Given the description of an element on the screen output the (x, y) to click on. 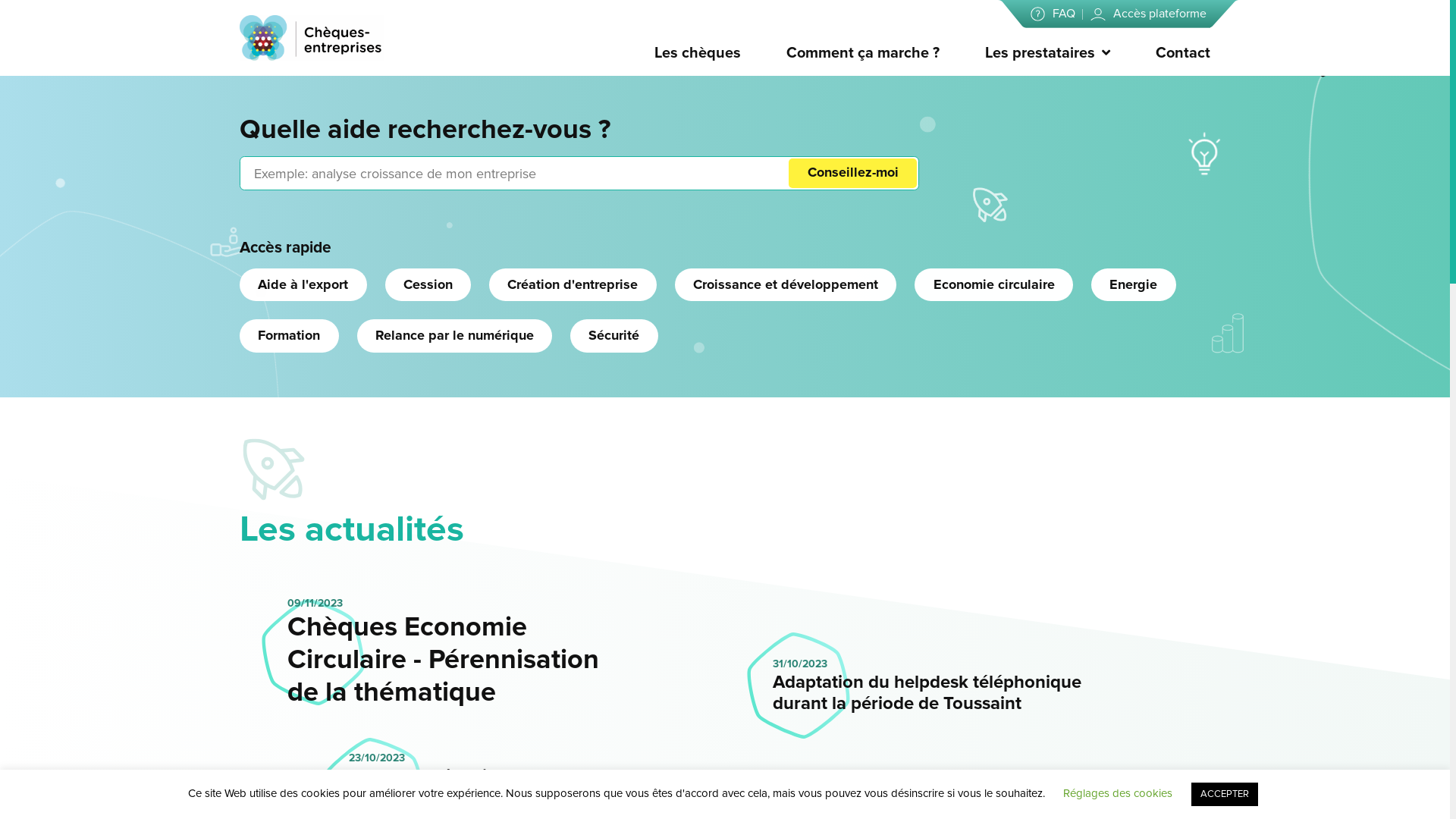
Cession Element type: text (428, 284)
Contact Element type: text (1182, 52)
Formation Element type: text (288, 335)
Energie Element type: text (1133, 284)
ACCEPTER Element type: text (1224, 794)
Economie circulaire Element type: text (993, 284)
FAQ Element type: text (1052, 14)
Conseillez-moi Element type: text (852, 173)
Les prestataires Element type: text (1039, 52)
